Given the description of an element on the screen output the (x, y) to click on. 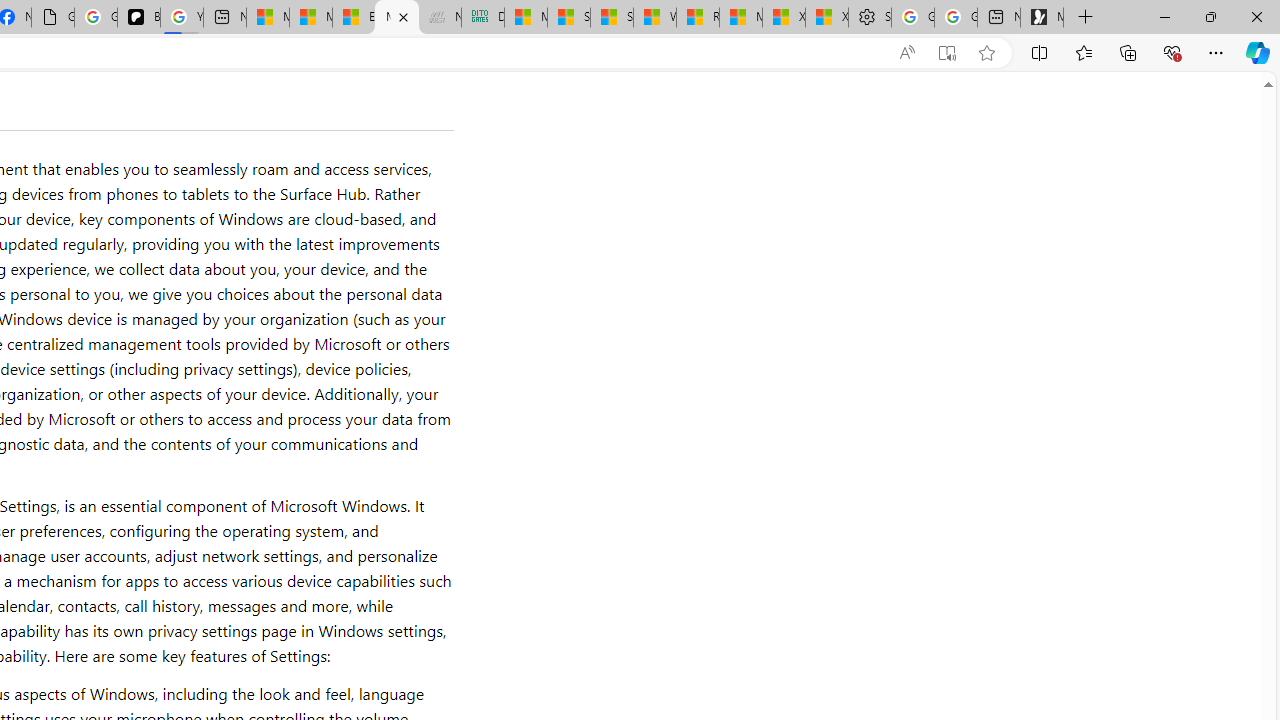
Google Analytics Opt-out Browser Add-on Download Page (53, 17)
